Given the description of an element on the screen output the (x, y) to click on. 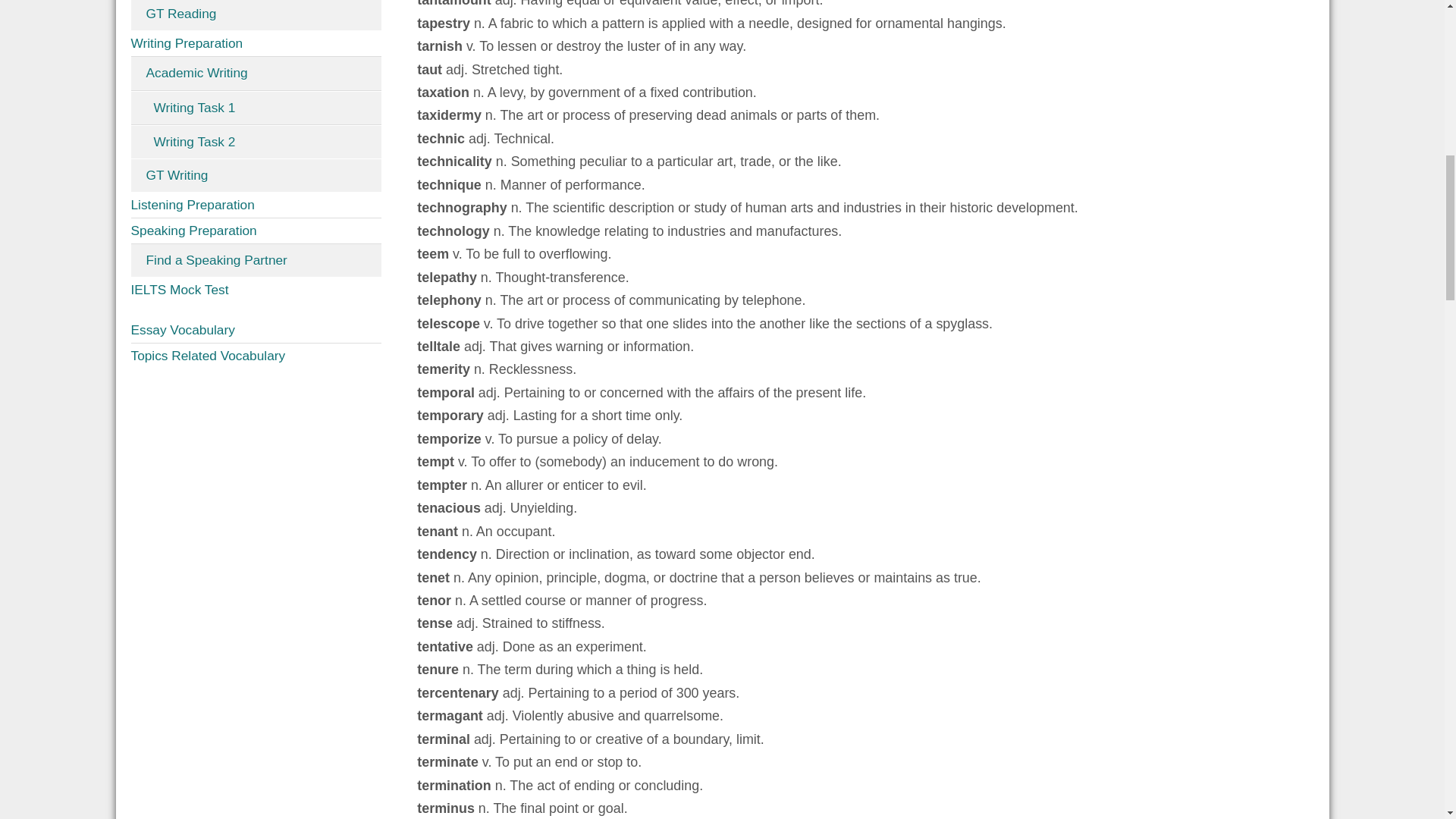
Academic Writing (256, 73)
Speaking Preparation (256, 231)
Find a Speaking Partner (256, 260)
Listening Preparation (256, 205)
Writing Task 2 (256, 142)
GT Writing (256, 174)
Writing Task 1 (256, 108)
GT Reading (256, 15)
IELTS Mock Test (256, 289)
Writing Preparation (256, 43)
